Given the description of an element on the screen output the (x, y) to click on. 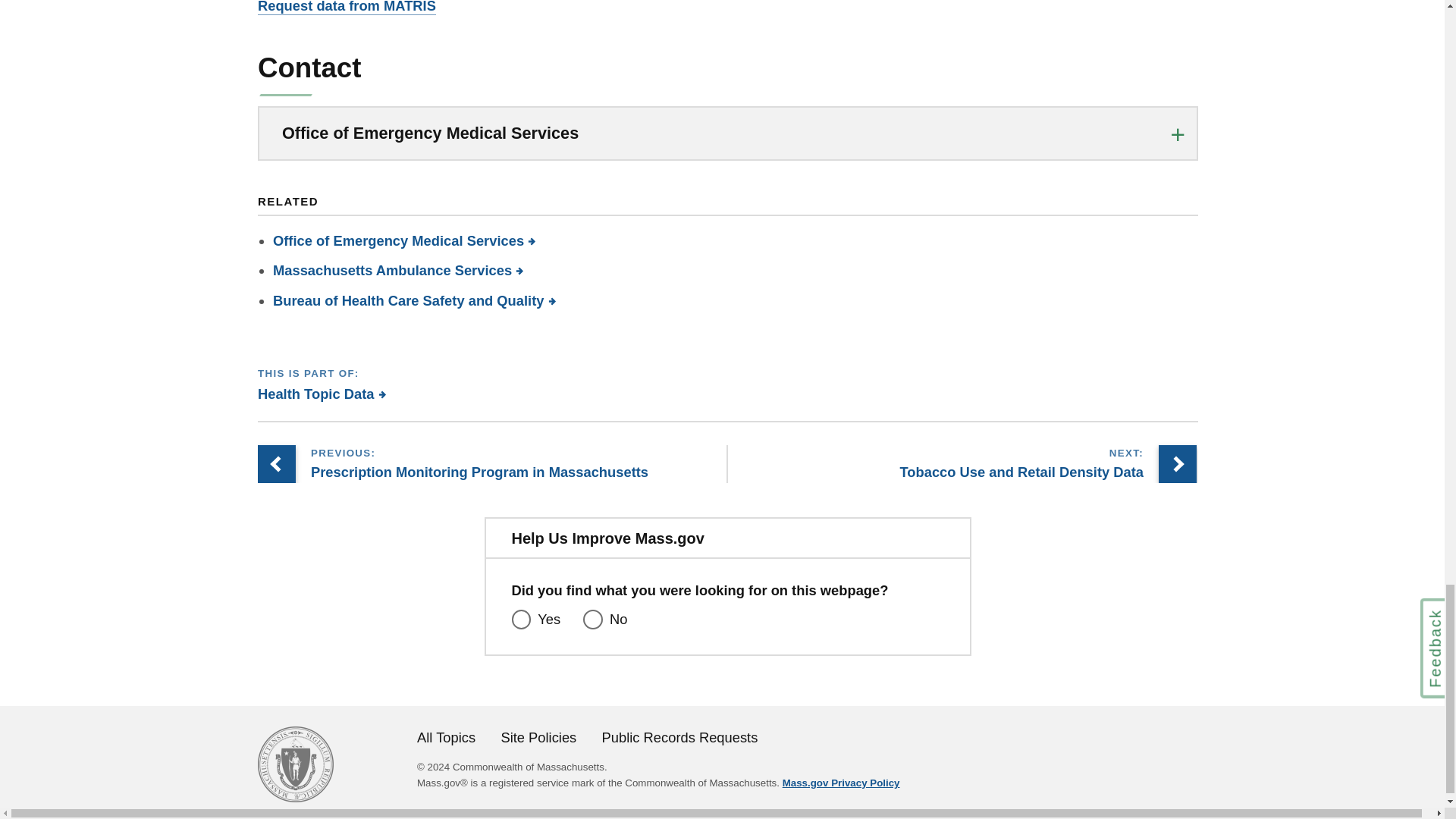
Mass.gov home page (295, 797)
